Given the description of an element on the screen output the (x, y) to click on. 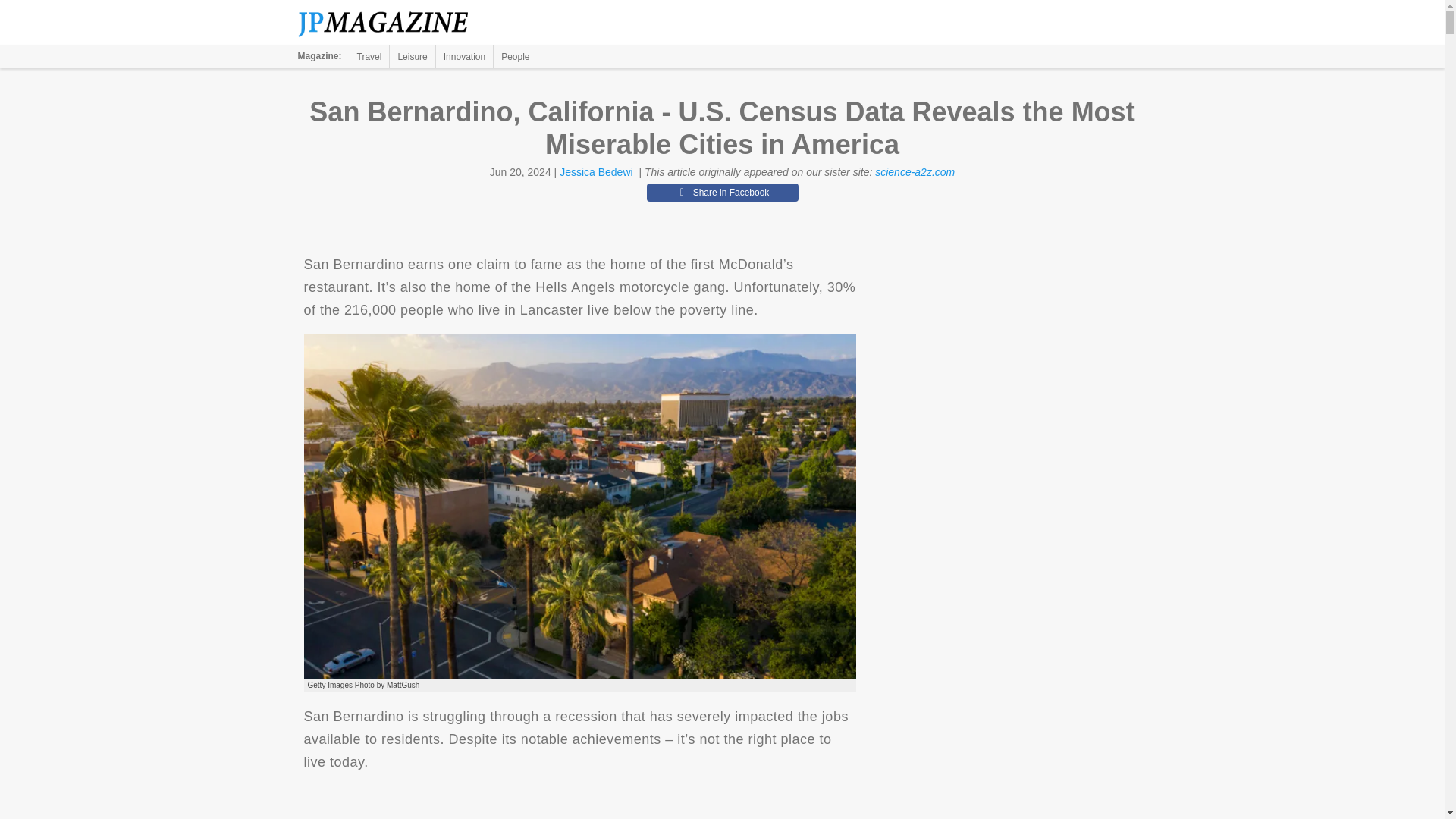
The Jerusalem Post Magazine (391, 22)
science-a2z.com (915, 172)
Share in Facebook (721, 192)
People (515, 56)
Innovation (464, 56)
Jessica Bedewi (596, 172)
Travel (369, 56)
Leisure (411, 56)
